Given the description of an element on the screen output the (x, y) to click on. 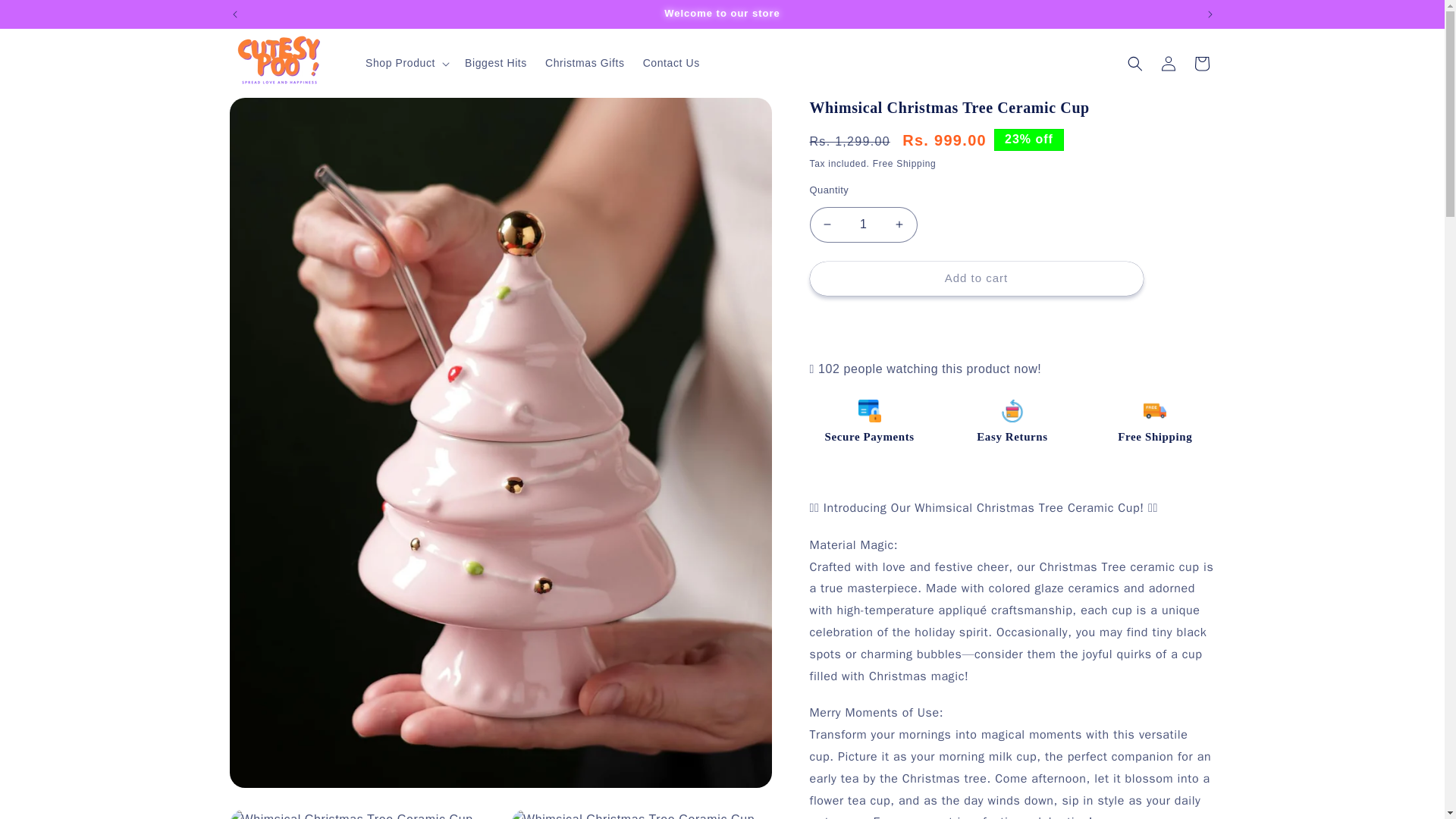
Christmas Gifts (584, 62)
Biggest Hits (495, 62)
Contact Us (671, 62)
Log in (1168, 63)
1 (863, 224)
Skip to content (45, 16)
Cart (1201, 63)
